Given the description of an element on the screen output the (x, y) to click on. 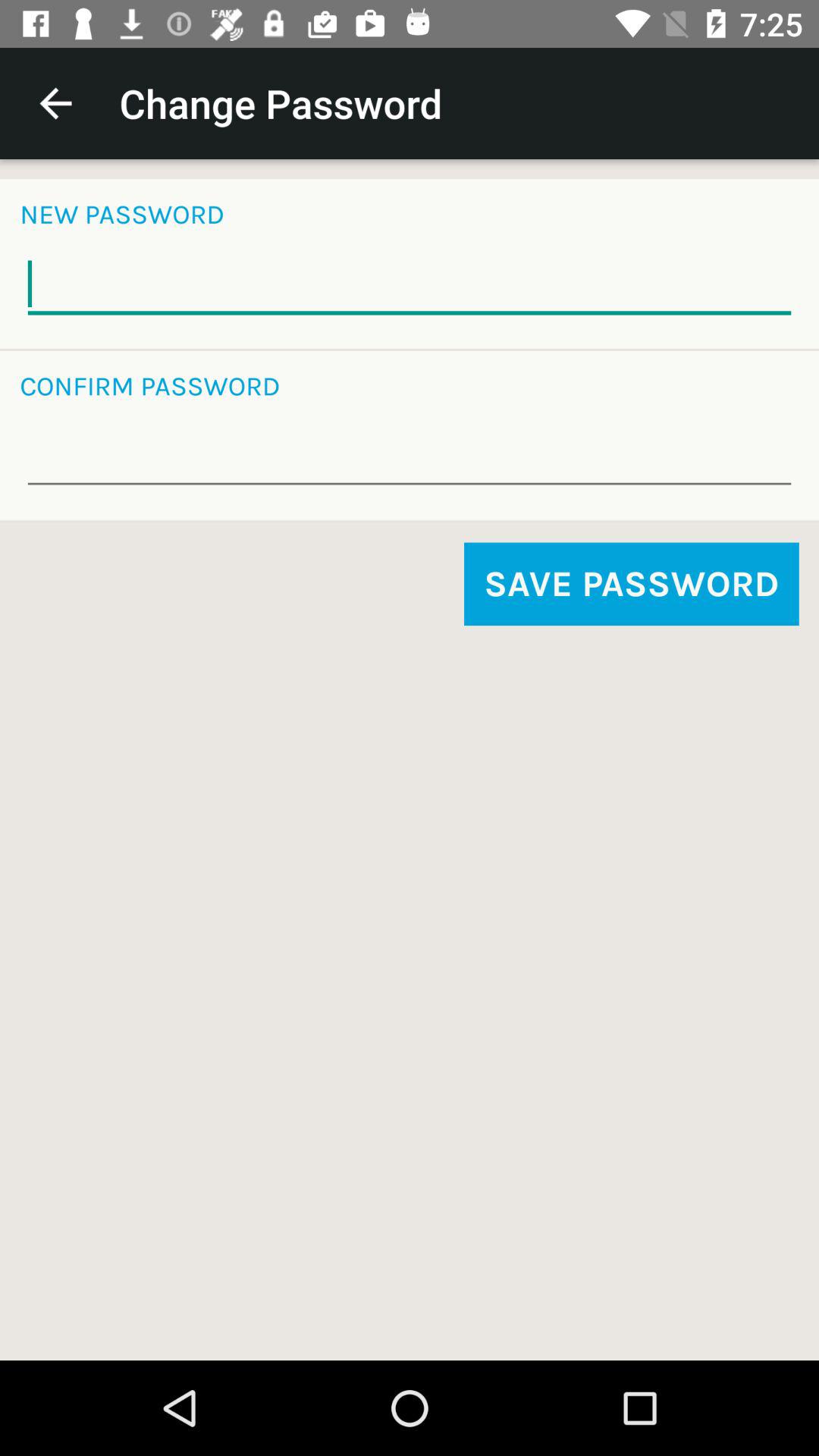
tap the item above new password icon (55, 103)
